Given the description of an element on the screen output the (x, y) to click on. 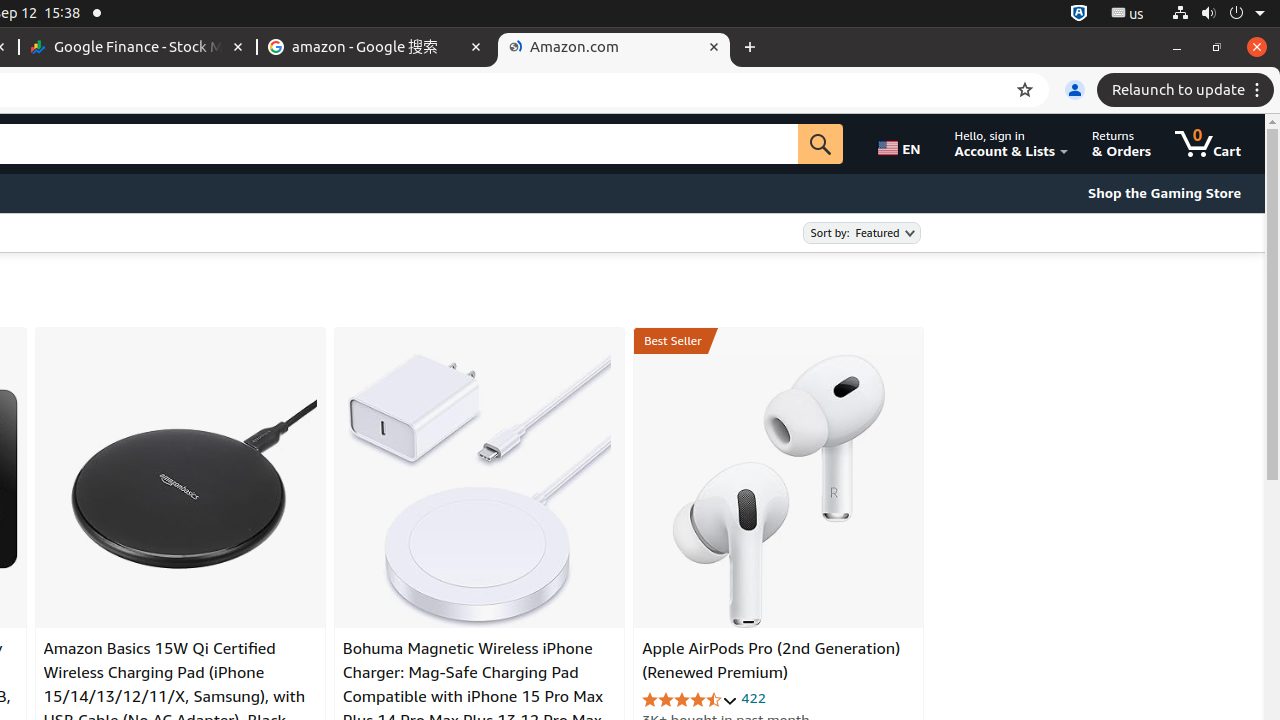
New Tab Element type: push-button (750, 47)
Featured Element type: menu-item (861, 232)
4.3 out of 5 stars Element type: push-button (690, 699)
:1.72/StatusNotifierItem Element type: menu (1079, 13)
0 items in cart Element type: link (1208, 144)
